Given the description of an element on the screen output the (x, y) to click on. 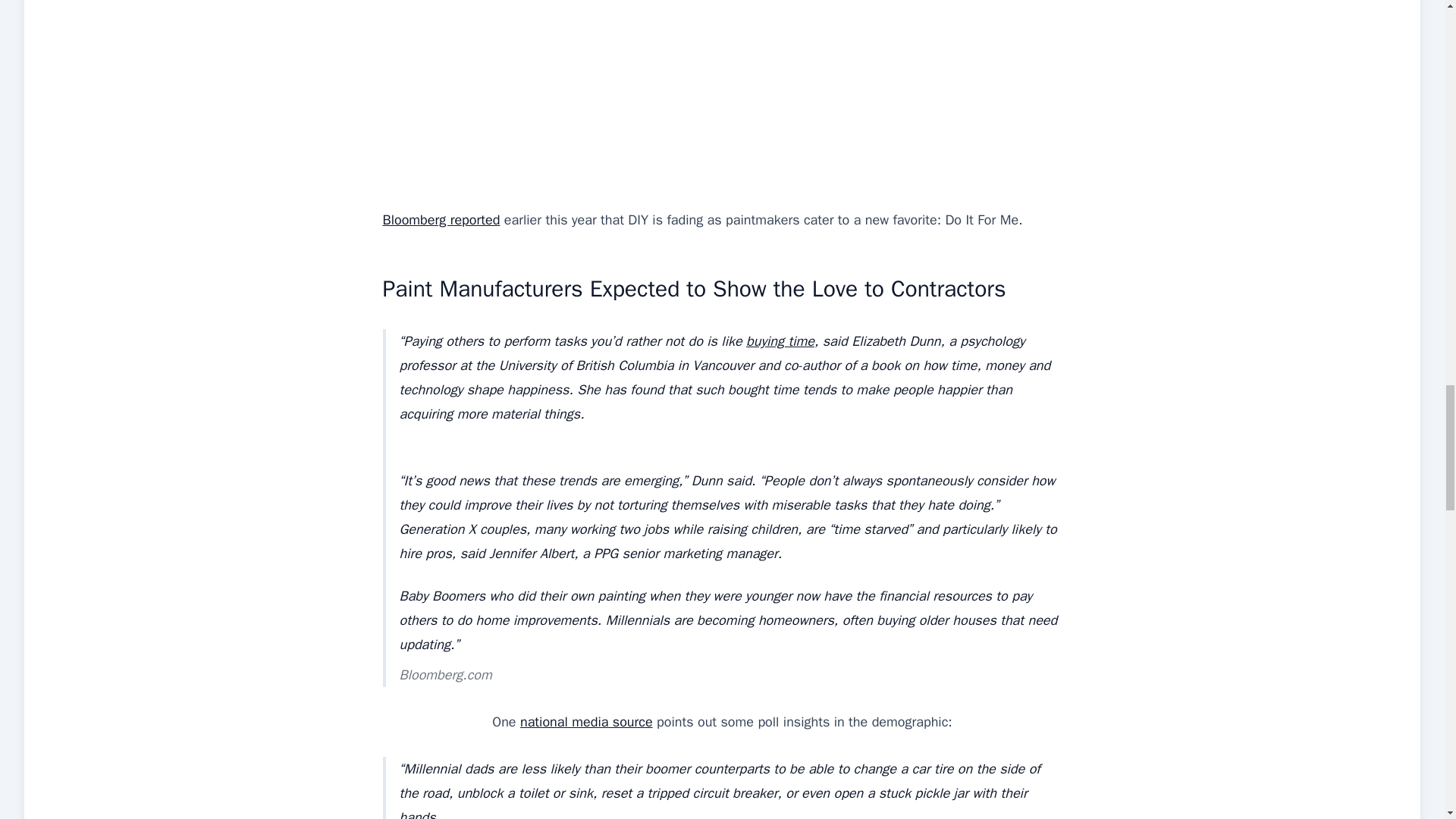
Bloomberg reported (440, 219)
national media source (585, 721)
buying time (779, 340)
